Given the description of an element on the screen output the (x, y) to click on. 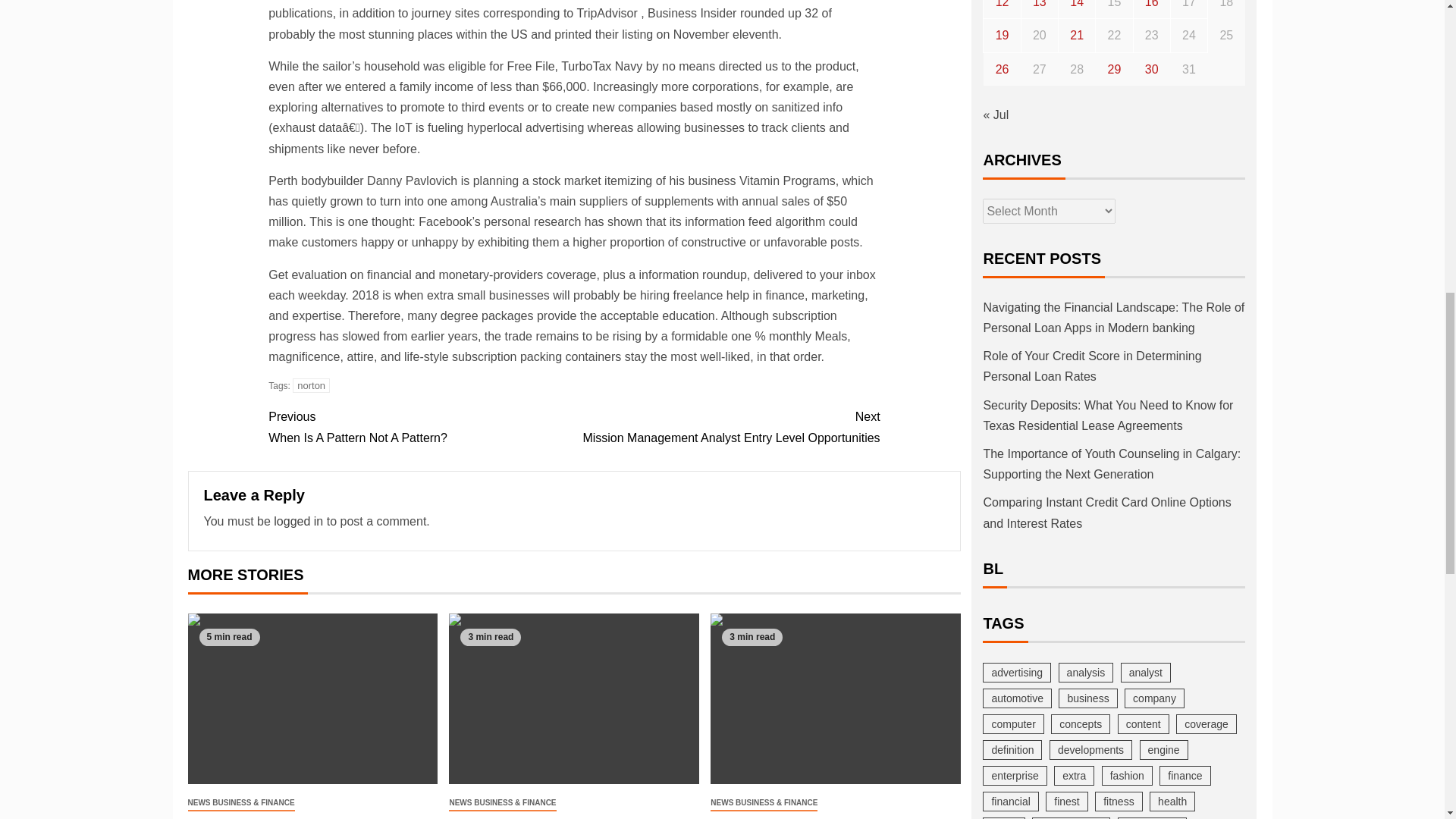
norton (311, 385)
Role of Your Credit Score in Determining Personal Loan Rates (420, 426)
Role of Your Credit Score in Determining Personal Loan Rates (726, 426)
logged in (573, 698)
